Given the description of an element on the screen output the (x, y) to click on. 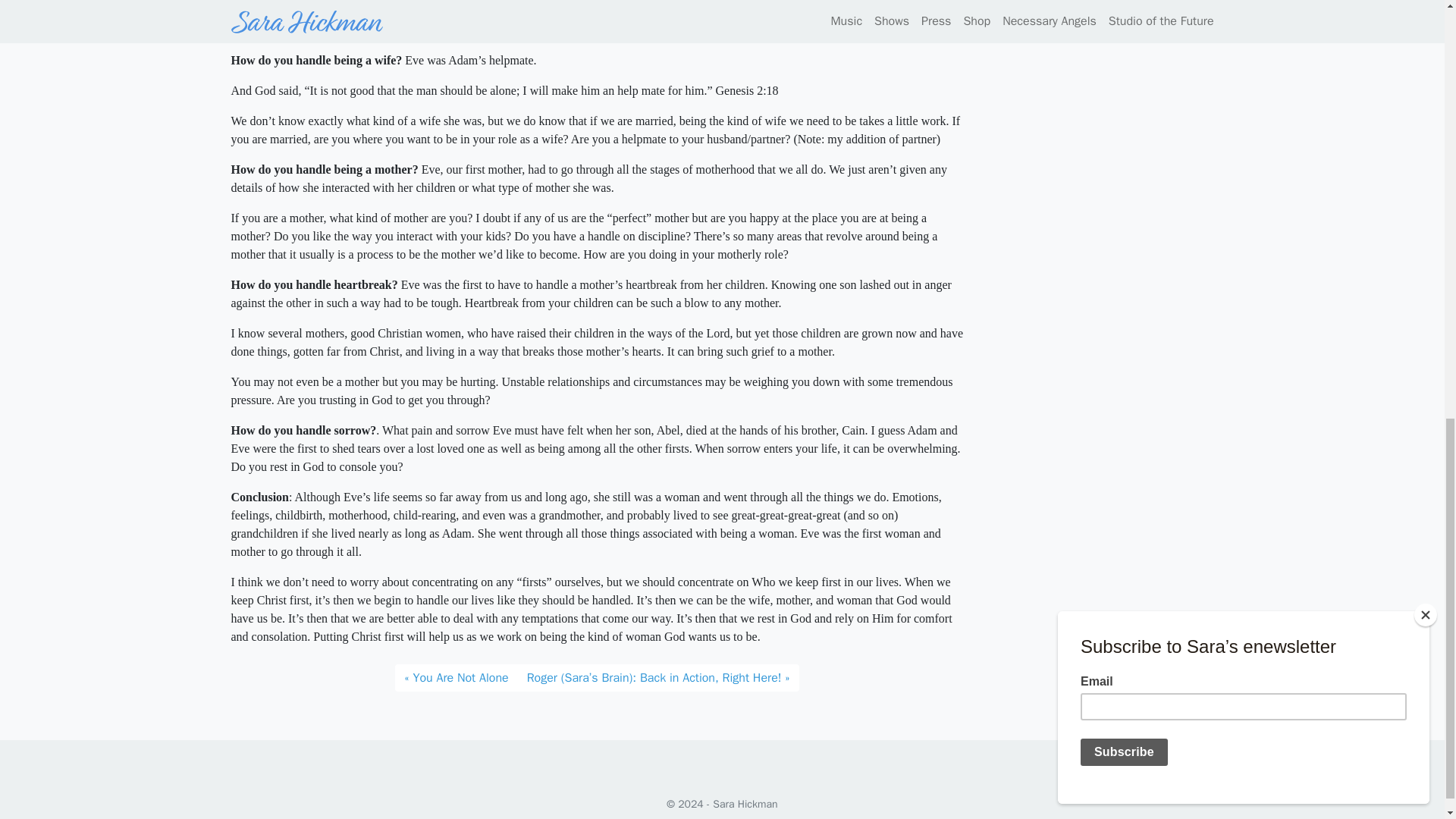
You Are Not Alone (455, 677)
